Given the description of an element on the screen output the (x, y) to click on. 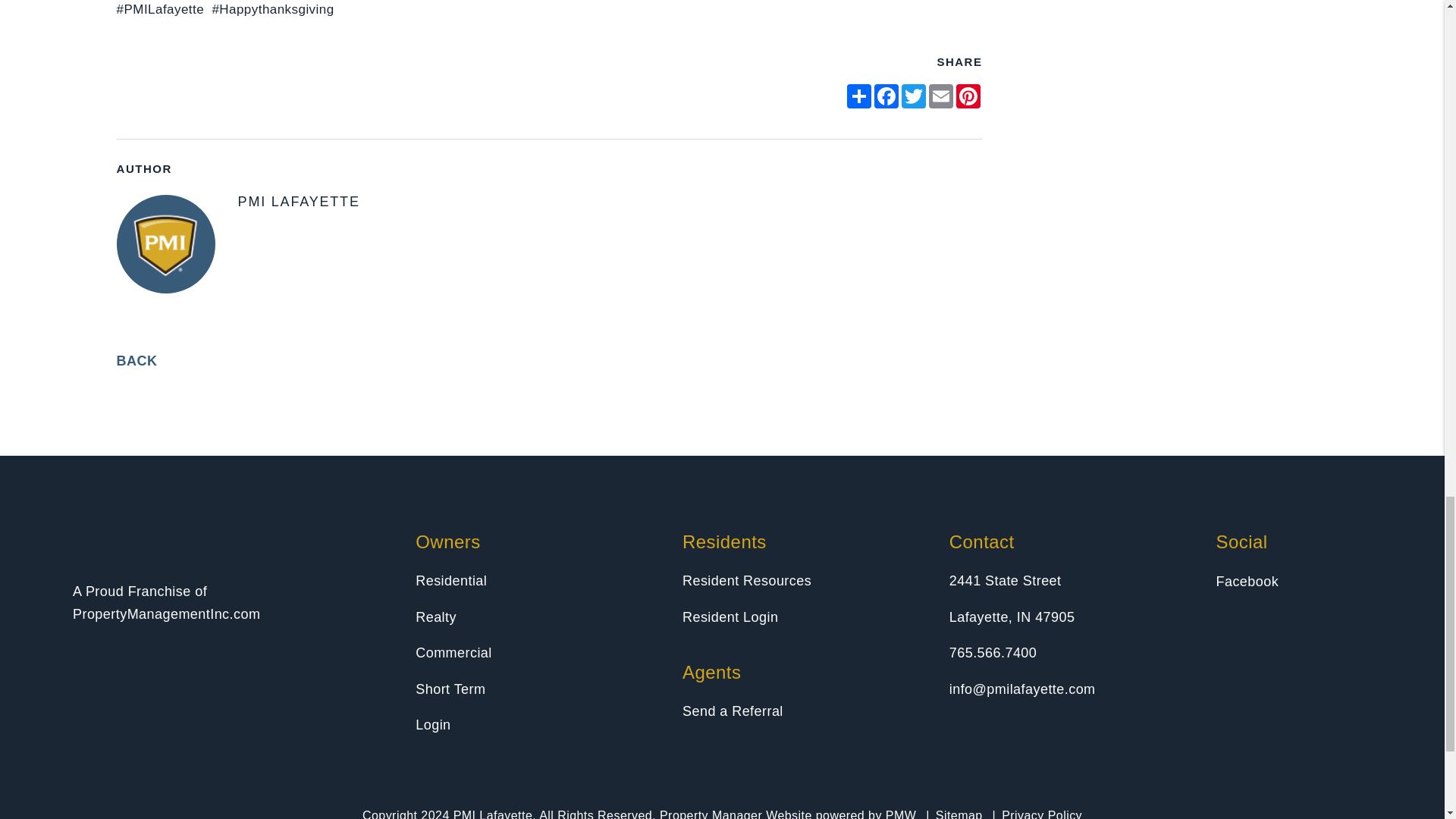
opens in new window (885, 96)
opens in new window (968, 96)
opens in new window (858, 96)
opens in new window (941, 96)
opens in new window (913, 96)
